Given the description of an element on the screen output the (x, y) to click on. 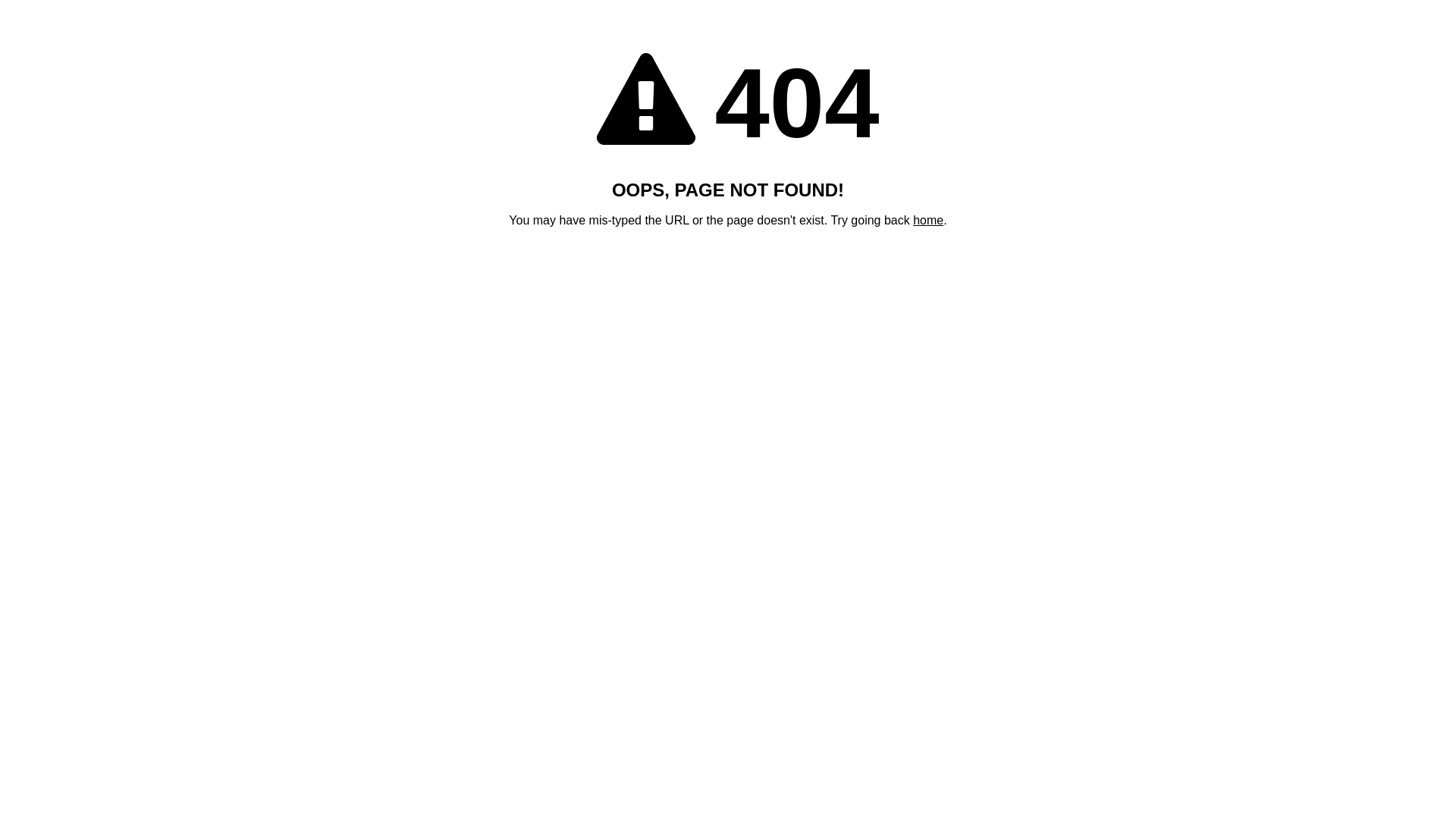
home Element type: text (928, 219)
